Given the description of an element on the screen output the (x, y) to click on. 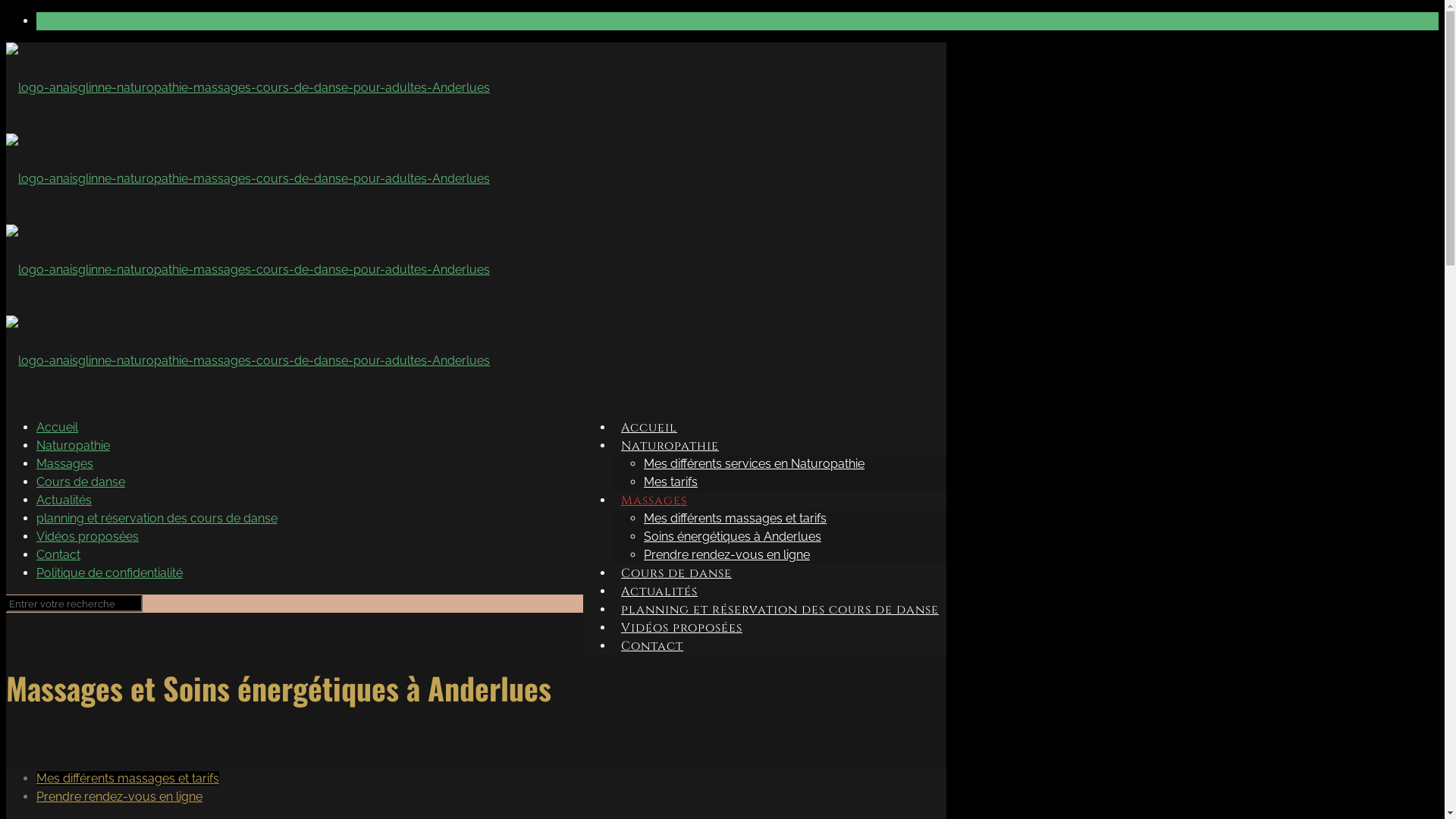
Massages Element type: text (64, 463)
071/15.93.57 Element type: text (71, 20)
Accueil Element type: text (57, 427)
Massages Element type: text (653, 500)
Prendre rendez-vous en ligne Element type: text (726, 554)
Mes tarifs Element type: text (670, 481)
Cours de danse Element type: text (676, 572)
Naturopathie Element type: text (72, 445)
Accueil Element type: text (648, 427)
Naturopathie Element type: text (669, 445)
Contact Element type: text (651, 645)
Contact Element type: text (58, 554)
Prendre rendez-vous en ligne Element type: text (119, 796)
Cours de danse Element type: text (80, 481)
